Given the description of an element on the screen output the (x, y) to click on. 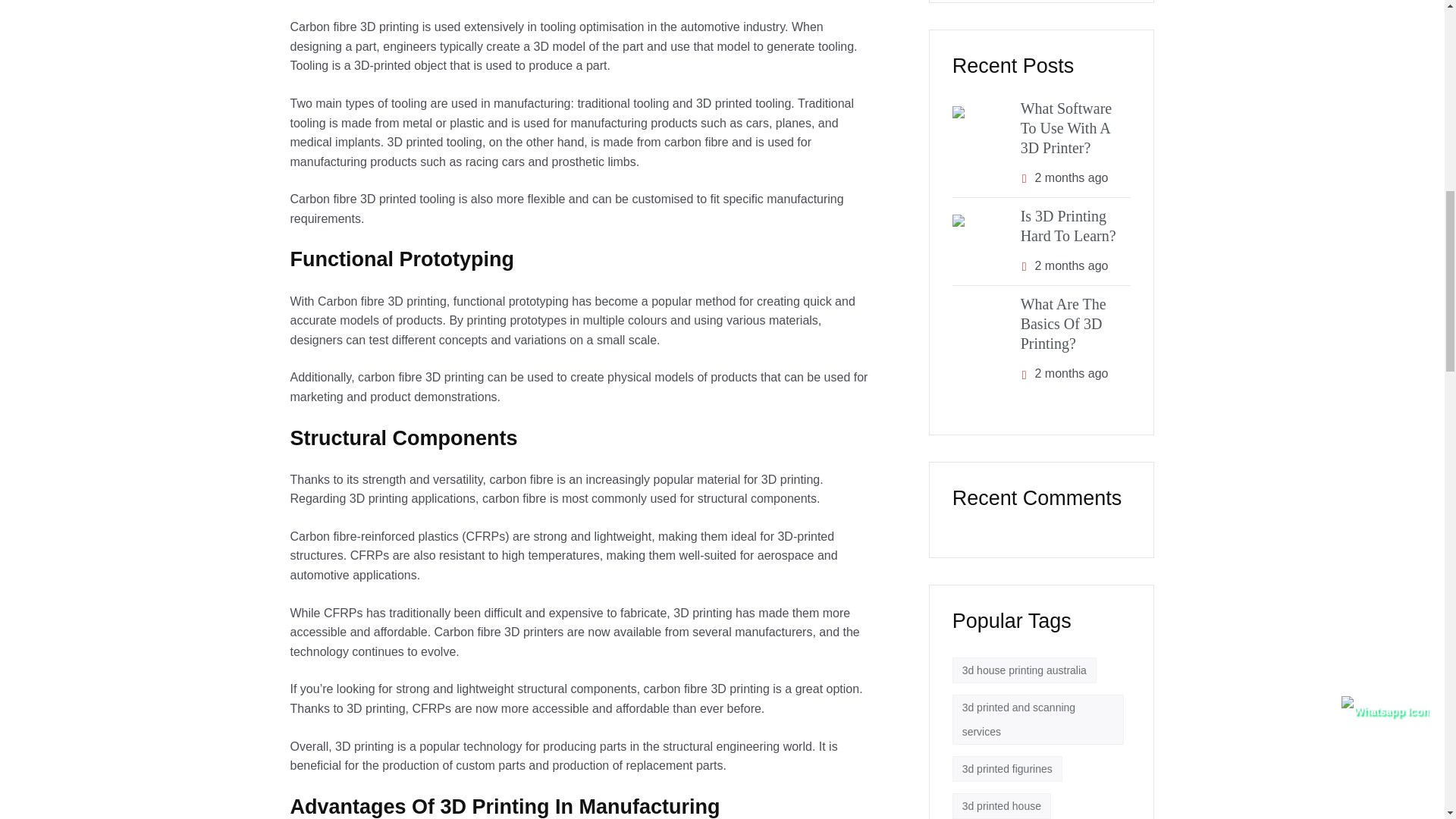
Is 3D Printing Hard To Learn? (1068, 226)
What Software To Use With A 3D Printer? (1066, 127)
What Are The Basics Of 3D Printing? (1063, 323)
